Given the description of an element on the screen output the (x, y) to click on. 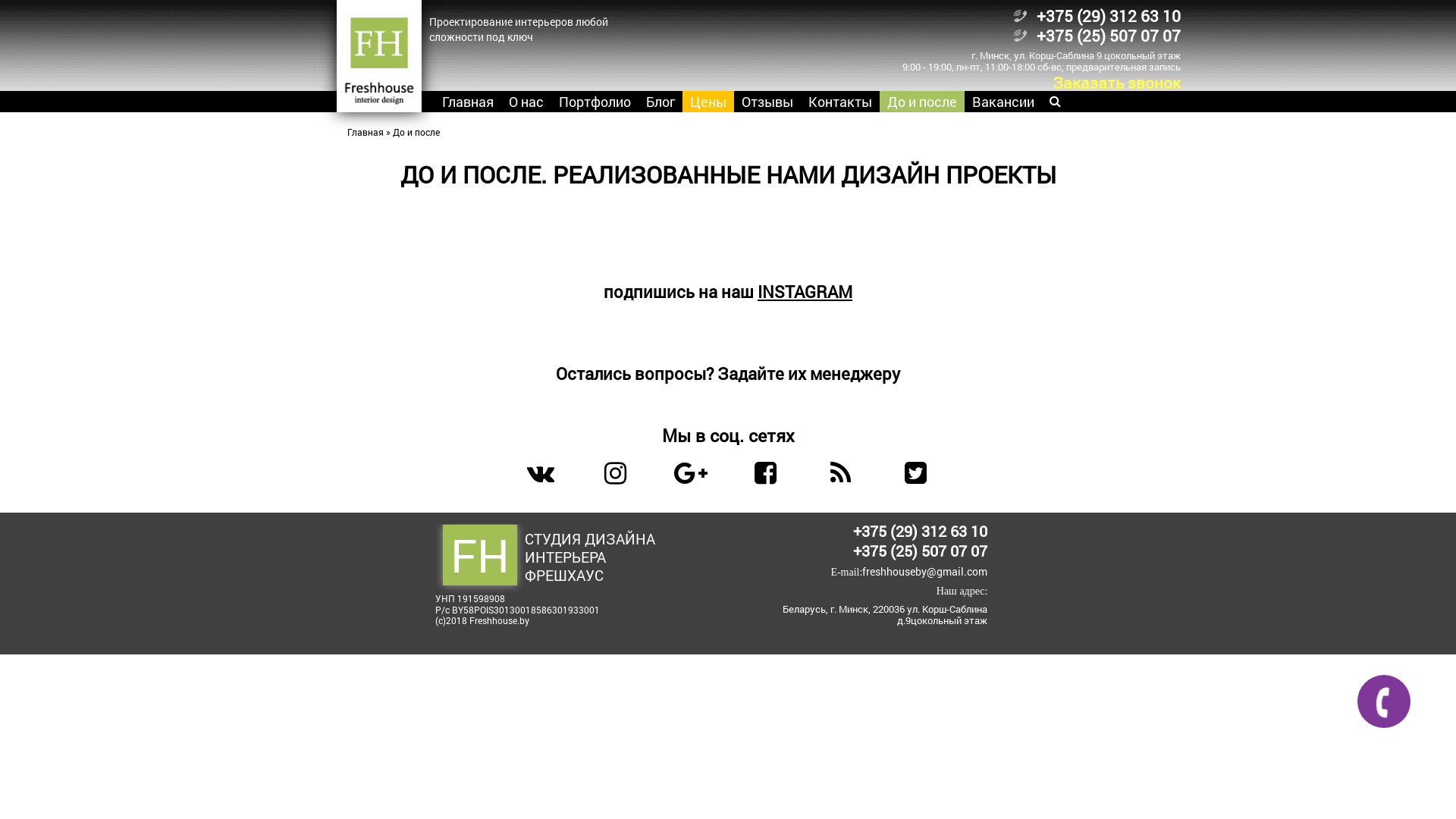
+375 (29) 312 63 10 Element type: text (1107, 15)
INSTAGRAM Element type: text (804, 291)
freshhouseby@gmail.com Element type: text (924, 571)
LiveInternet Element type: hover (371, 641)
+375 (25) 507 07 07 Element type: text (1107, 35)
+375 (25) 507 07 07 Element type: text (920, 550)
+375 (29) 312 63 10 Element type: text (920, 530)
